Given the description of an element on the screen output the (x, y) to click on. 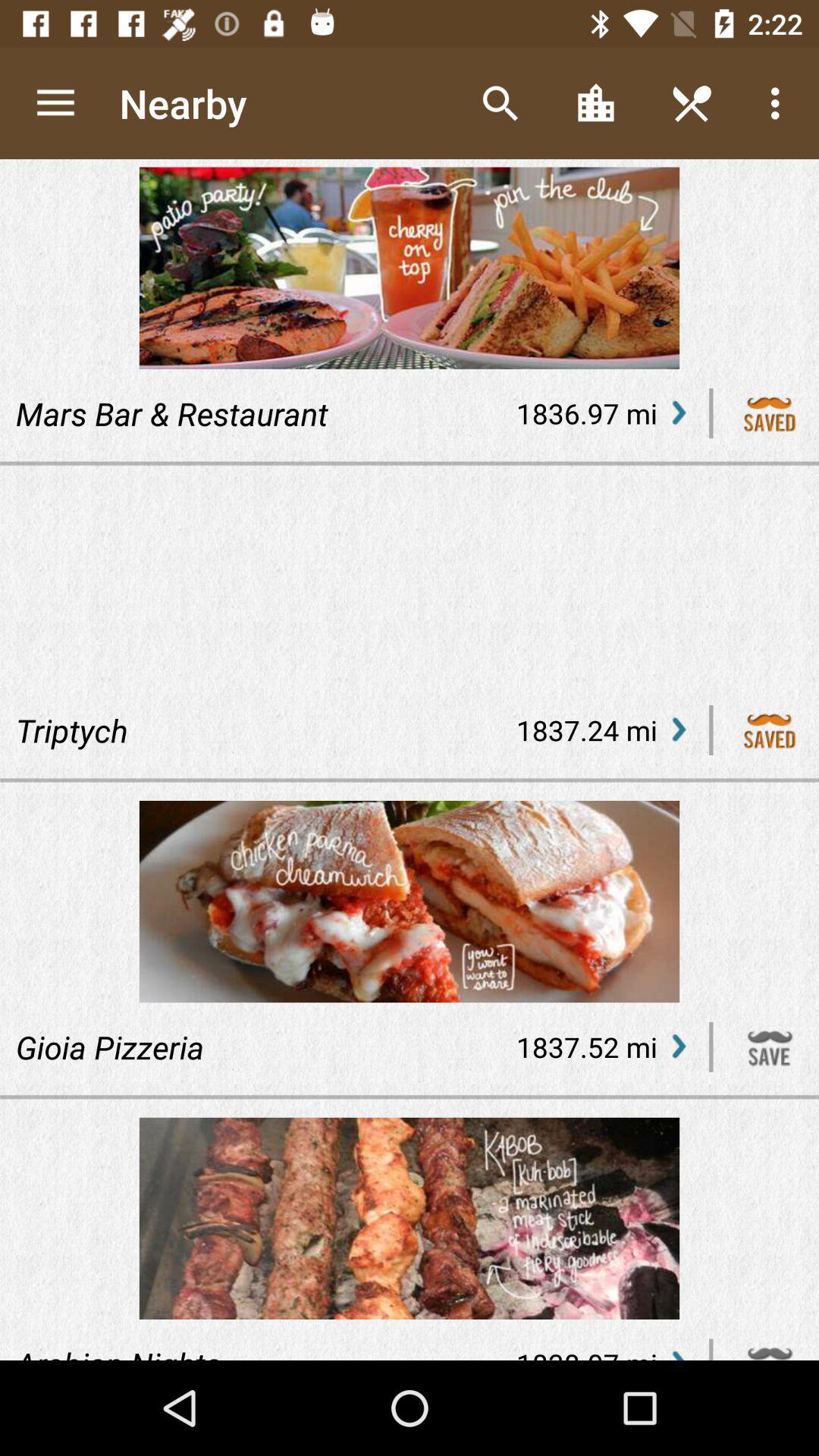
choose app next to the nearby app (500, 103)
